Given the description of an element on the screen output the (x, y) to click on. 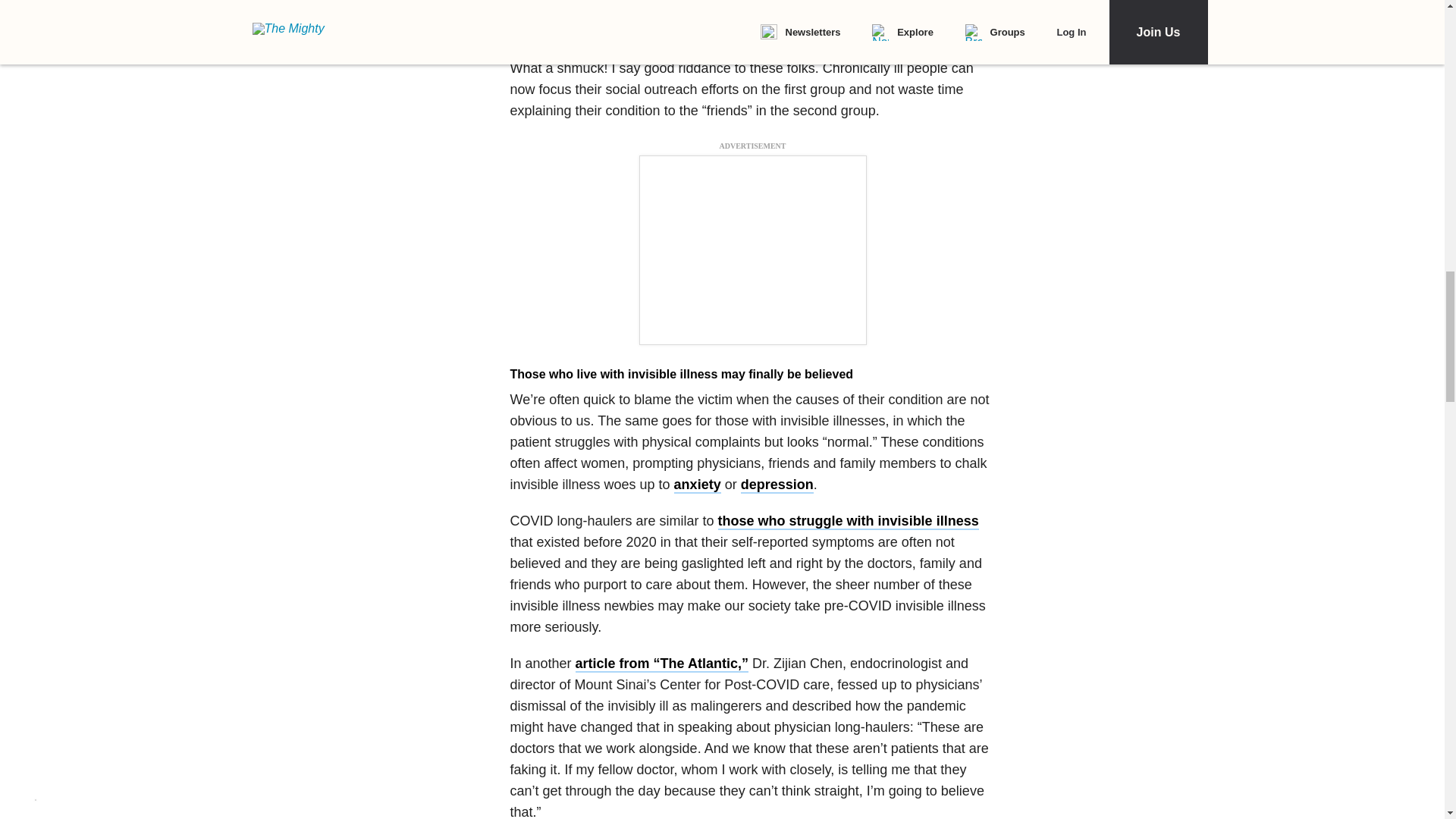
those who struggle with invisible illness (847, 521)
COVID (726, 26)
anxiety (697, 484)
depression (777, 484)
